Given the description of an element on the screen output the (x, y) to click on. 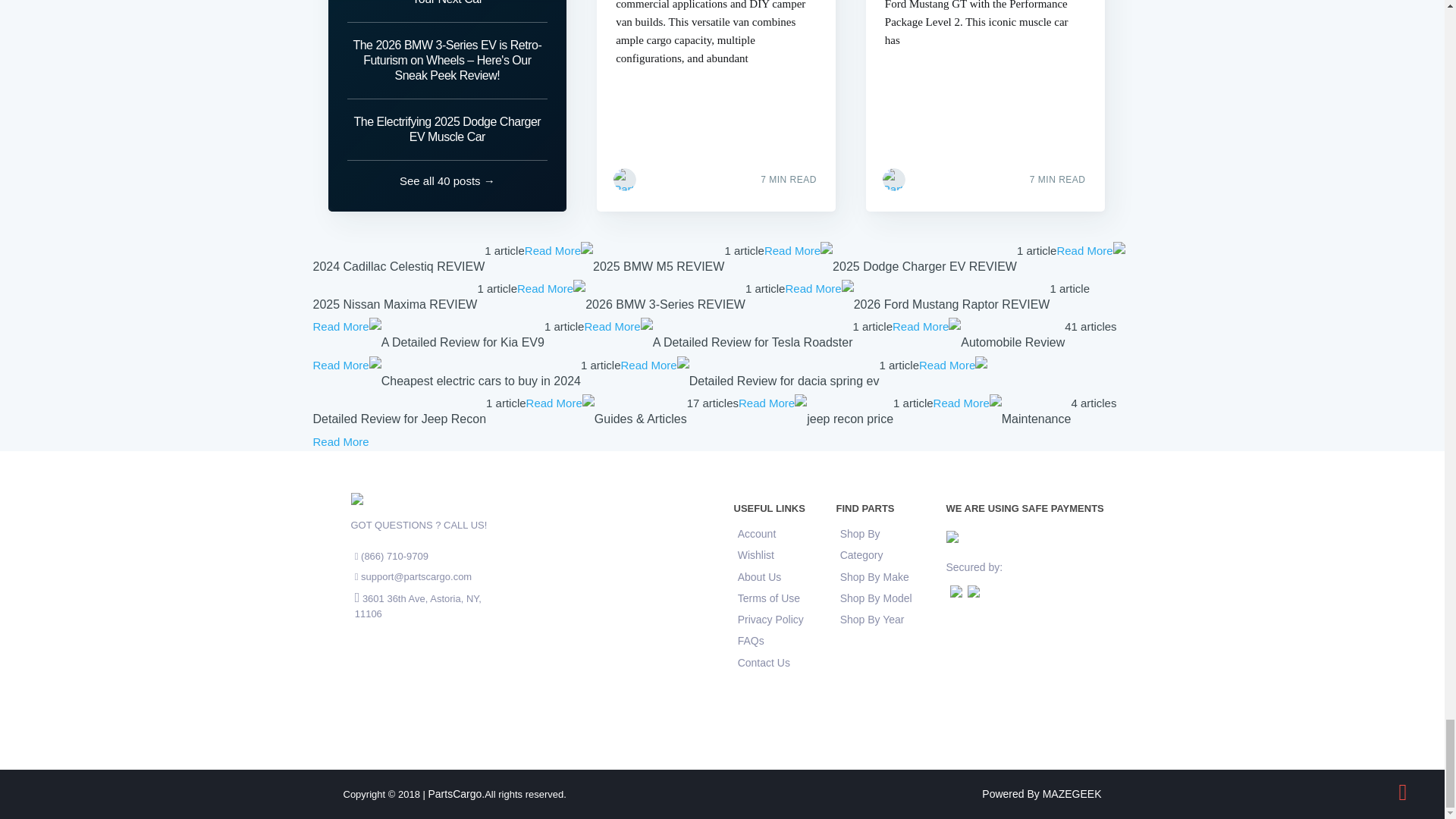
The 15 Hottest Features You'll Want in Your Next Car (447, 11)
Facebook (658, 177)
Facebook (927, 177)
Twitter (958, 177)
Twitter (689, 177)
The Electrifying 2025 Dodge Charger EV Muscle Car (447, 129)
